Given the description of an element on the screen output the (x, y) to click on. 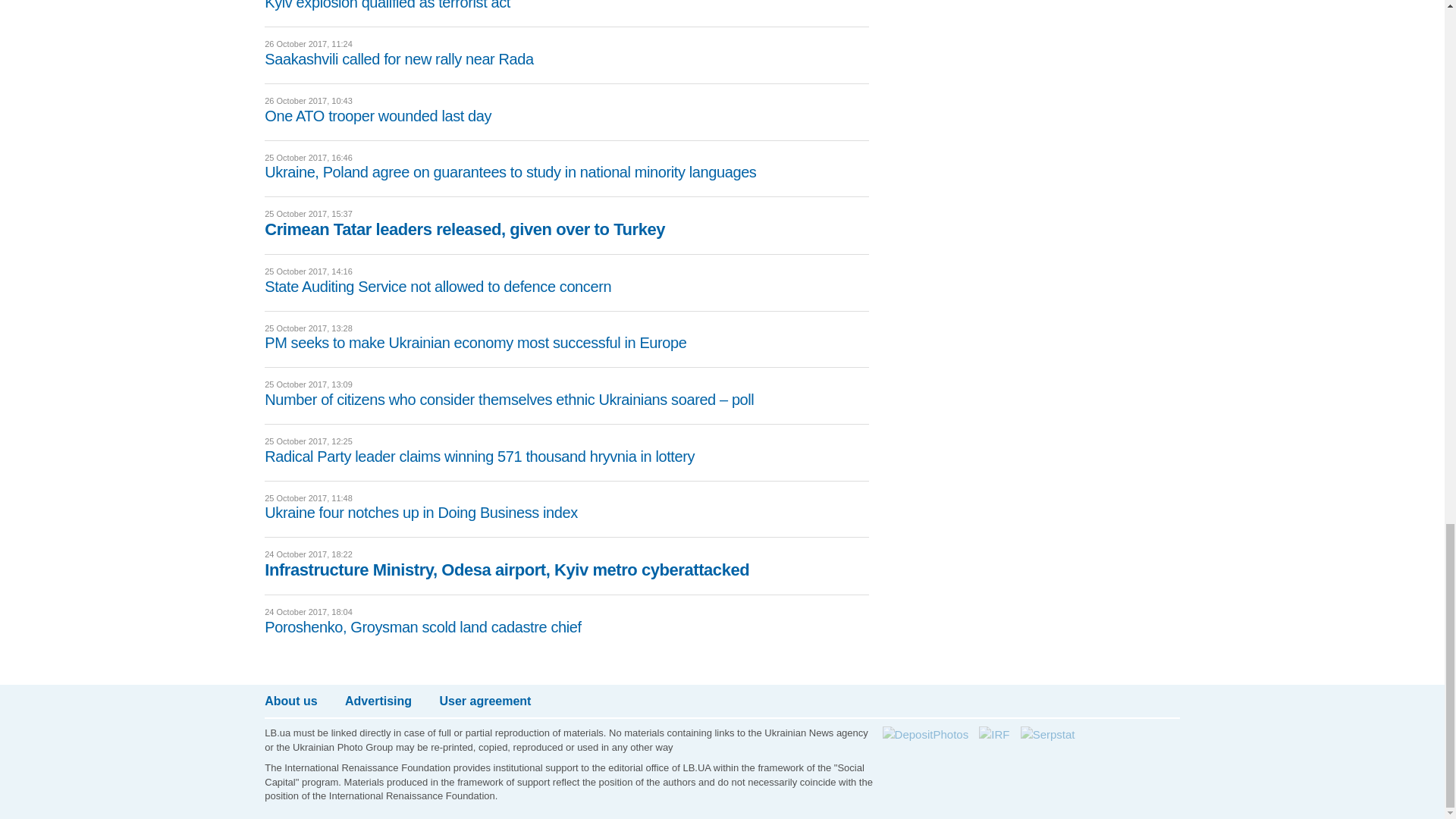
Crimean Tatar leaders released, given over to Turkey (464, 229)
Saakashvili called for new rally near Rada (399, 58)
One ATO trooper wounded last day (378, 115)
State Auditing Service not allowed to defence concern (437, 286)
Kyiv explosion qualified as terrorist act (387, 5)
PM seeks to make Ukrainian economy most successful in Europe (474, 342)
